Given the description of an element on the screen output the (x, y) to click on. 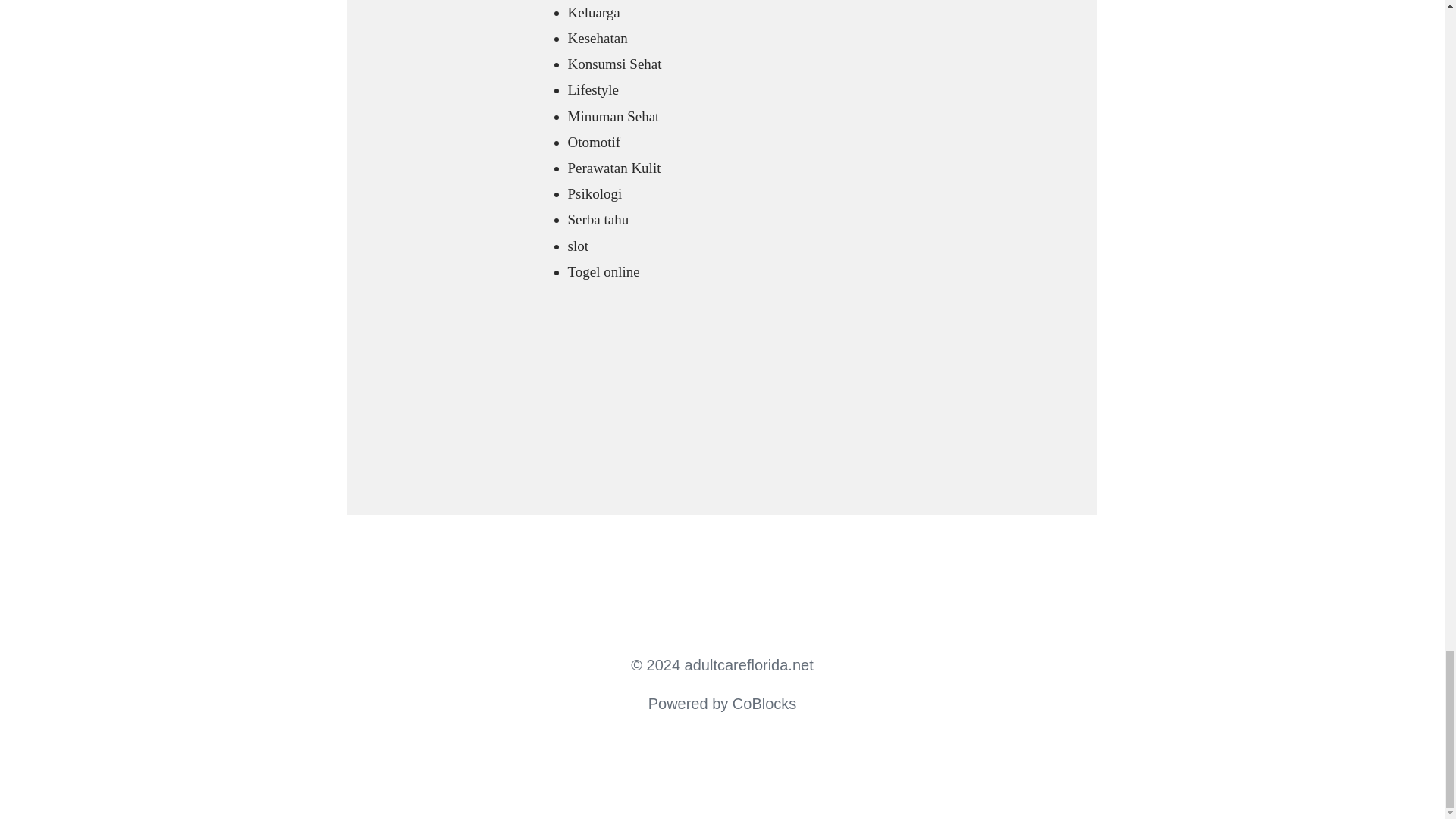
DMCA.com Protection Status (592, 432)
